Given the description of an element on the screen output the (x, y) to click on. 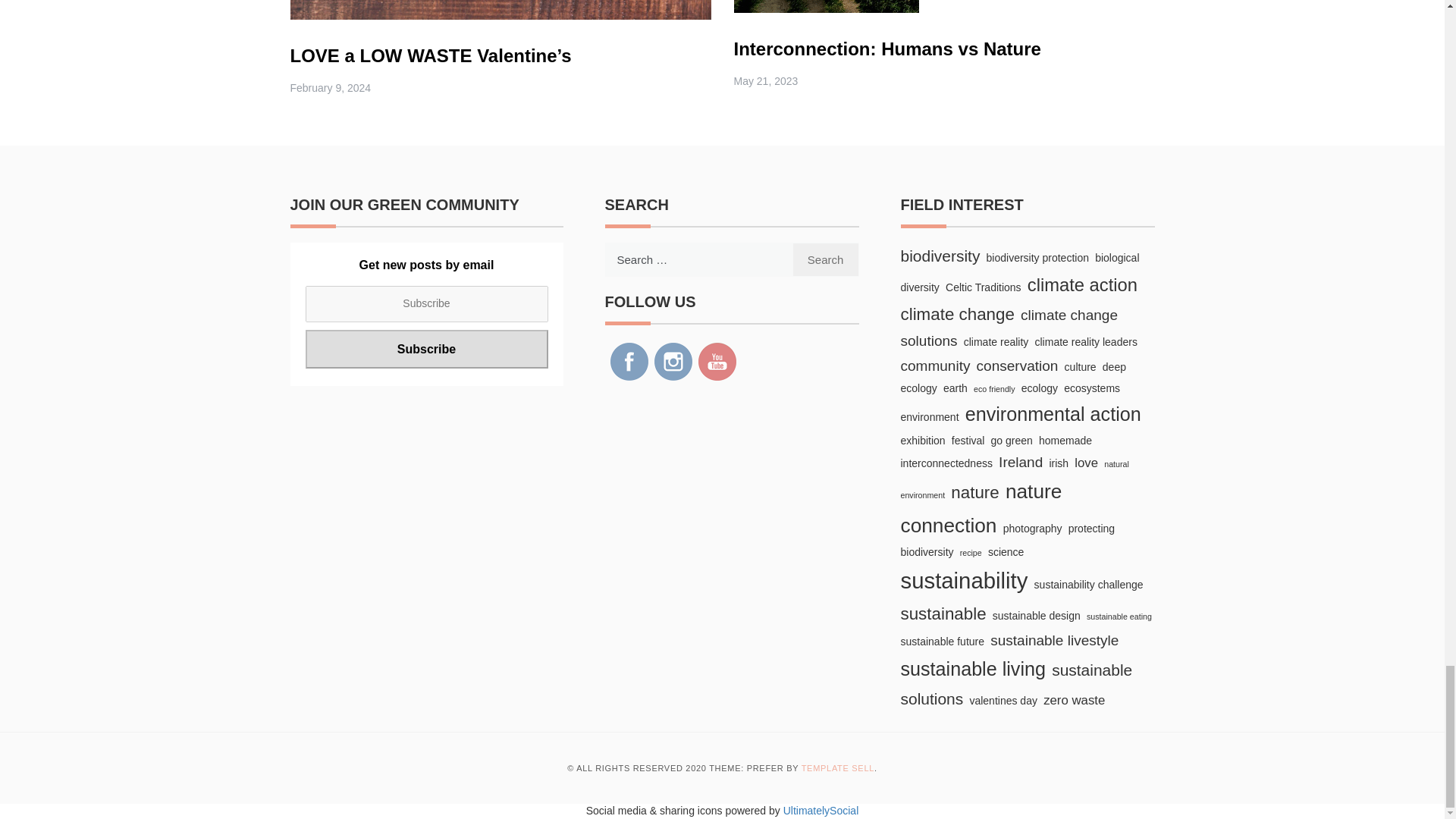
Search (825, 259)
Greenhouse Culture Channel (716, 361)
Subscribe (425, 349)
Greenhouse Culture Hub (628, 361)
Search (825, 259)
Greenhouse Culture Social (672, 361)
